Given the description of an element on the screen output the (x, y) to click on. 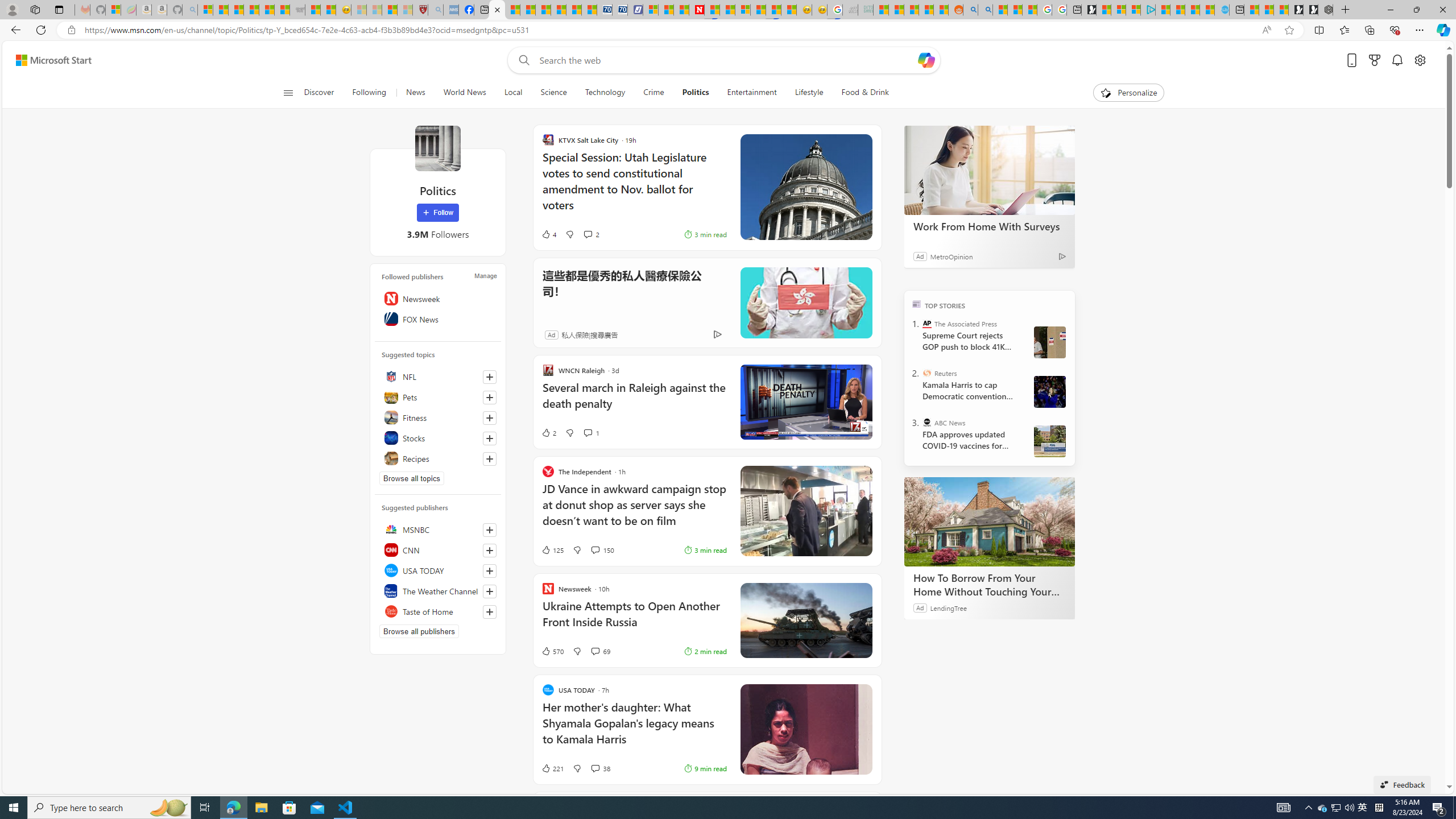
FOX News (437, 318)
View comments 2 Comment (587, 234)
